Given the description of an element on the screen output the (x, y) to click on. 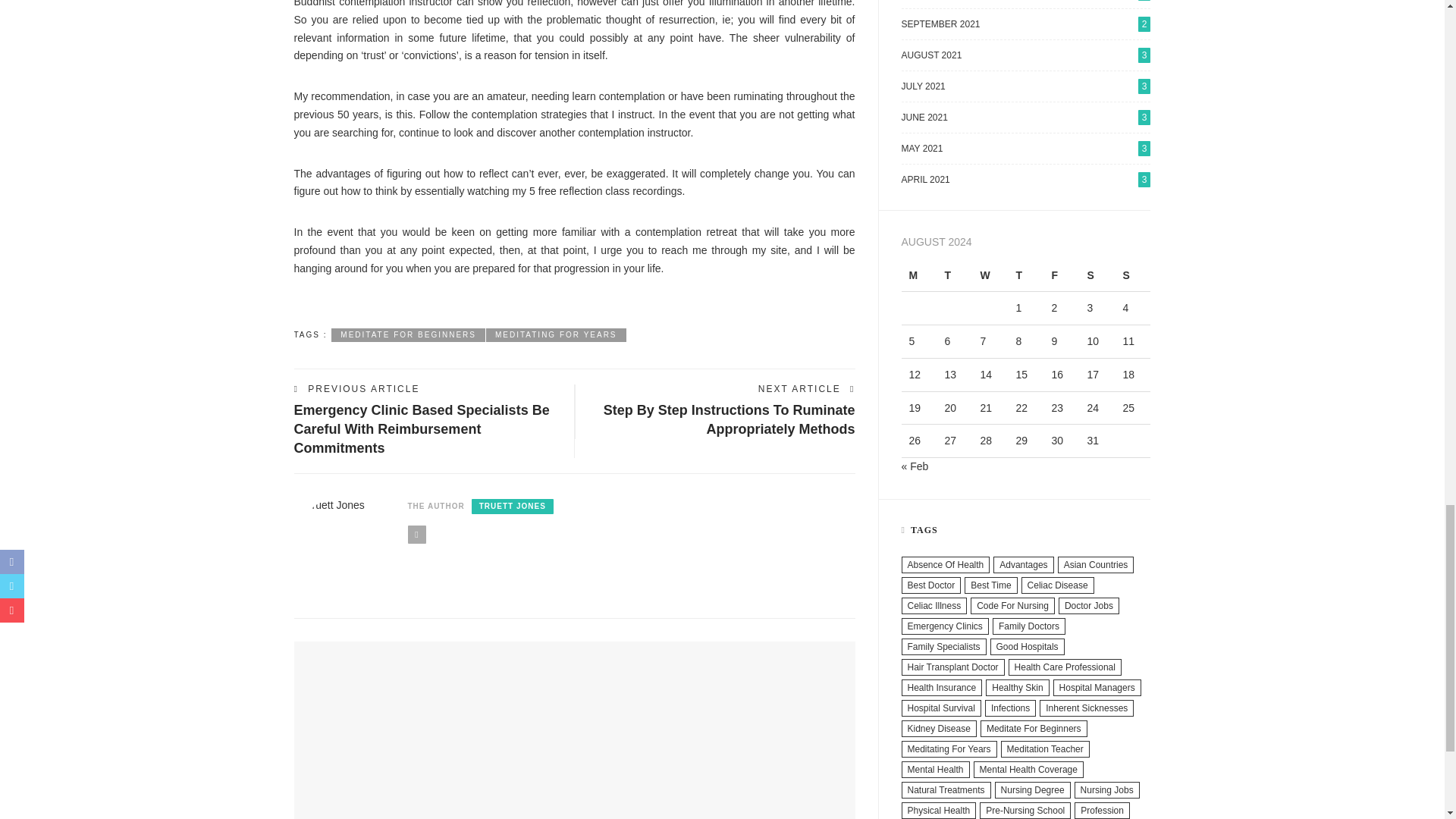
Step by step instructions to Ruminate Appropriately Methods (730, 419)
Meditate for Beginners (407, 335)
Meditating For Years (556, 335)
Website (416, 534)
